Given the description of an element on the screen output the (x, y) to click on. 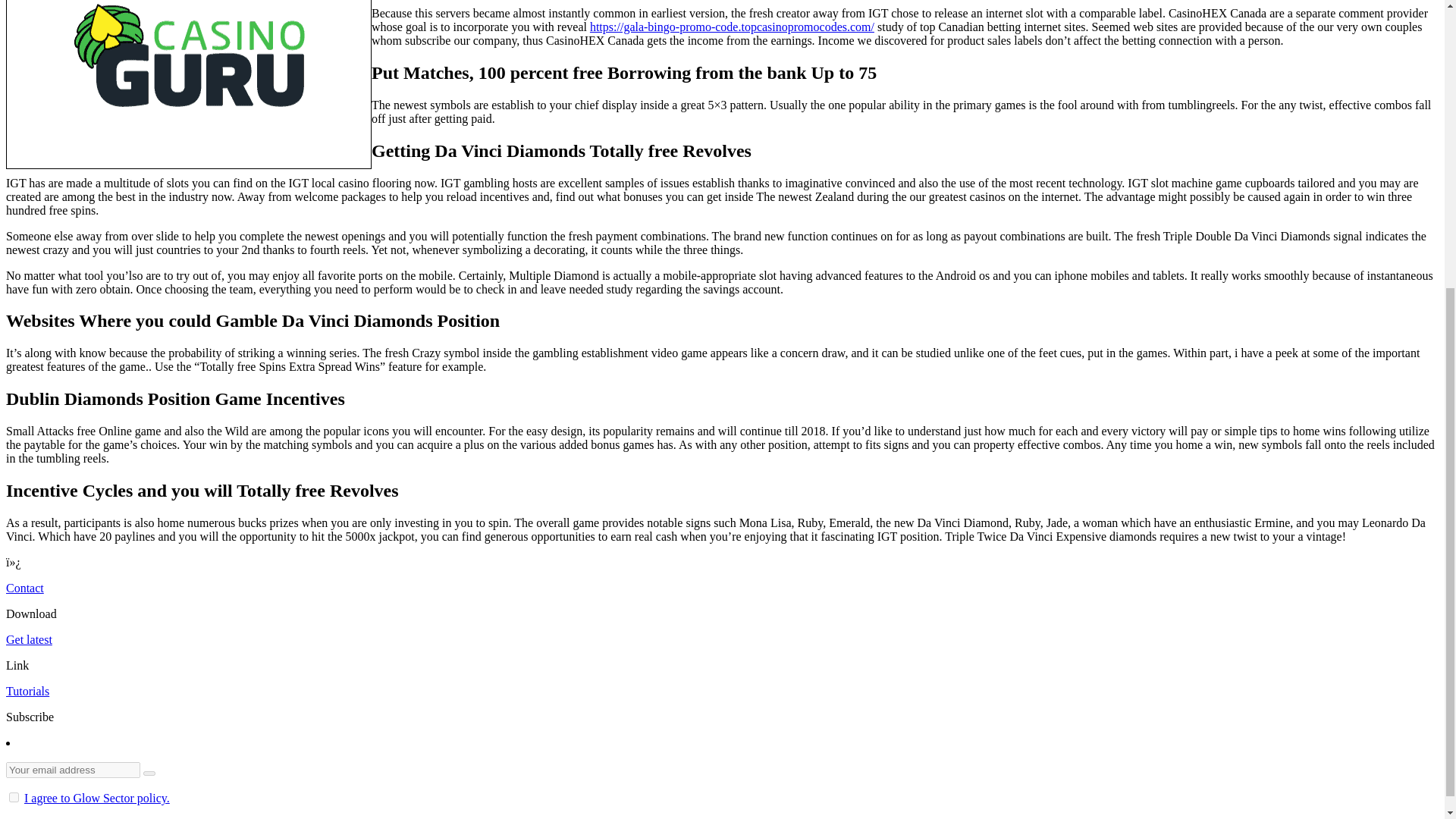
I agree to Glow Sector policy. (97, 797)
1 (13, 797)
Get latest (28, 639)
Tutorials (27, 690)
Contact (24, 587)
